Given the description of an element on the screen output the (x, y) to click on. 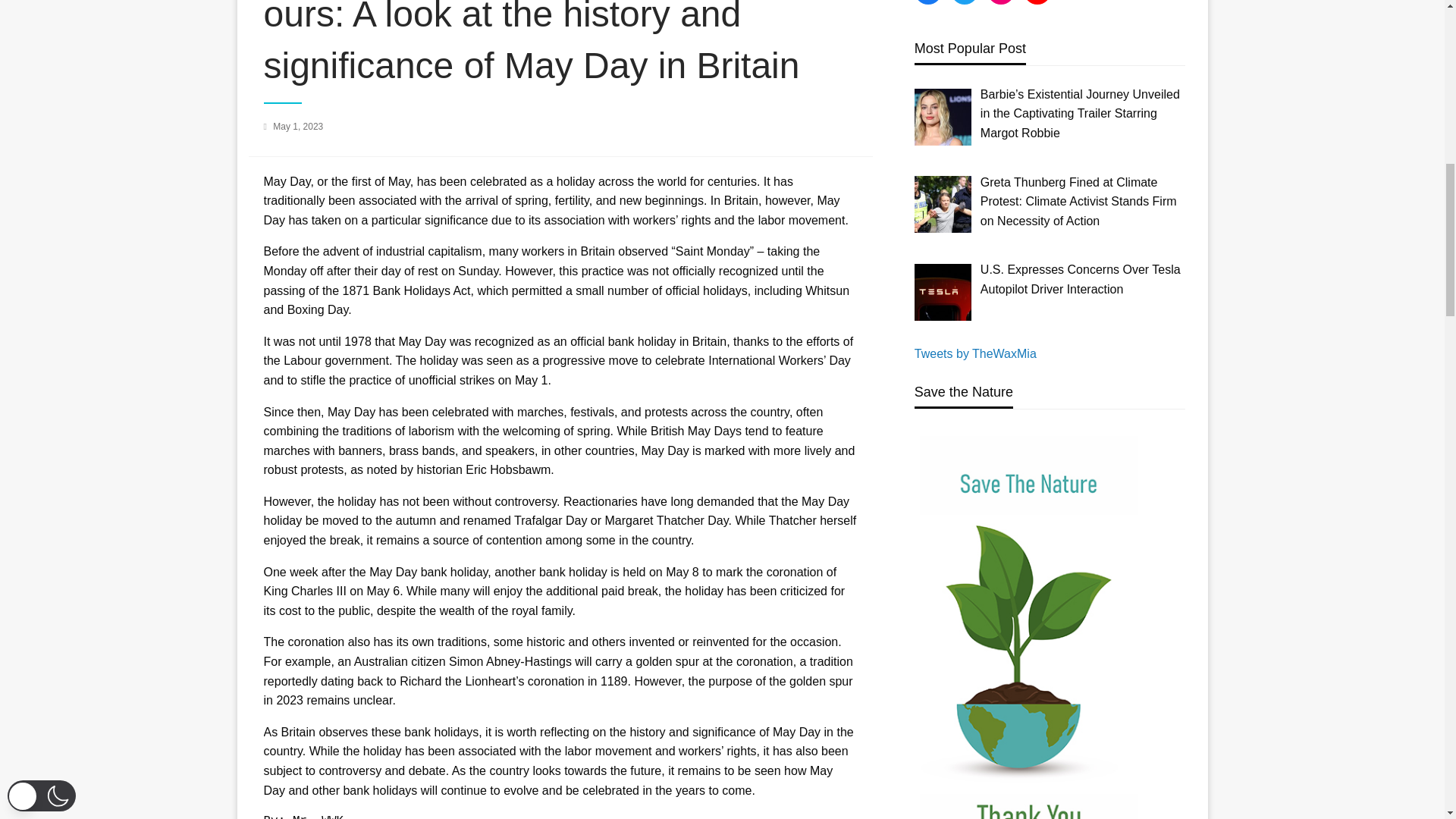
May 1, 2023 (298, 126)
